Given the description of an element on the screen output the (x, y) to click on. 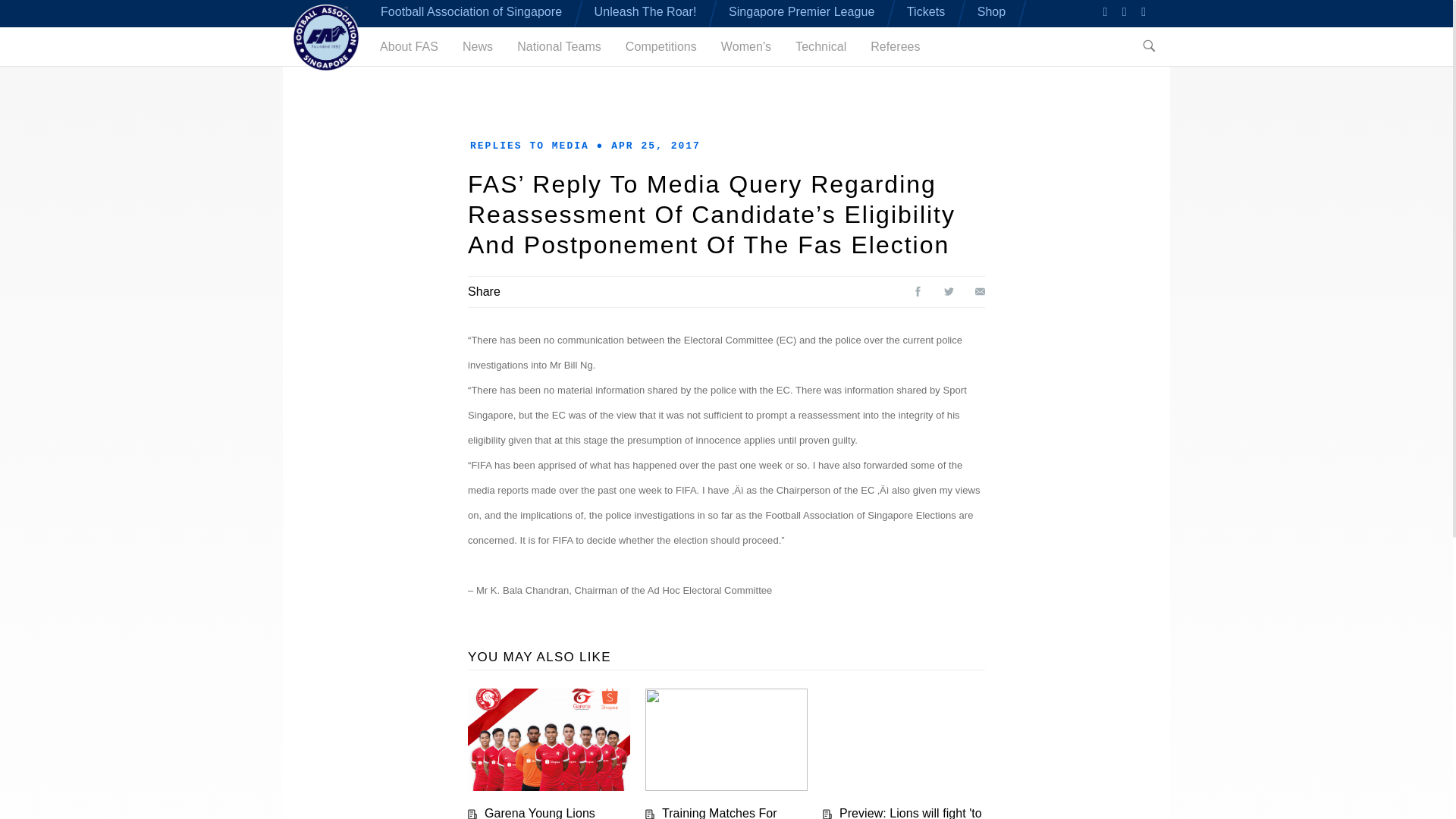
About FAS (409, 46)
Singapore Premier League (802, 11)
Football Association of Singapore (471, 11)
Unleash The Roar! (645, 11)
National Teams (558, 46)
Shop (991, 11)
Tickets (925, 11)
